Given the description of an element on the screen output the (x, y) to click on. 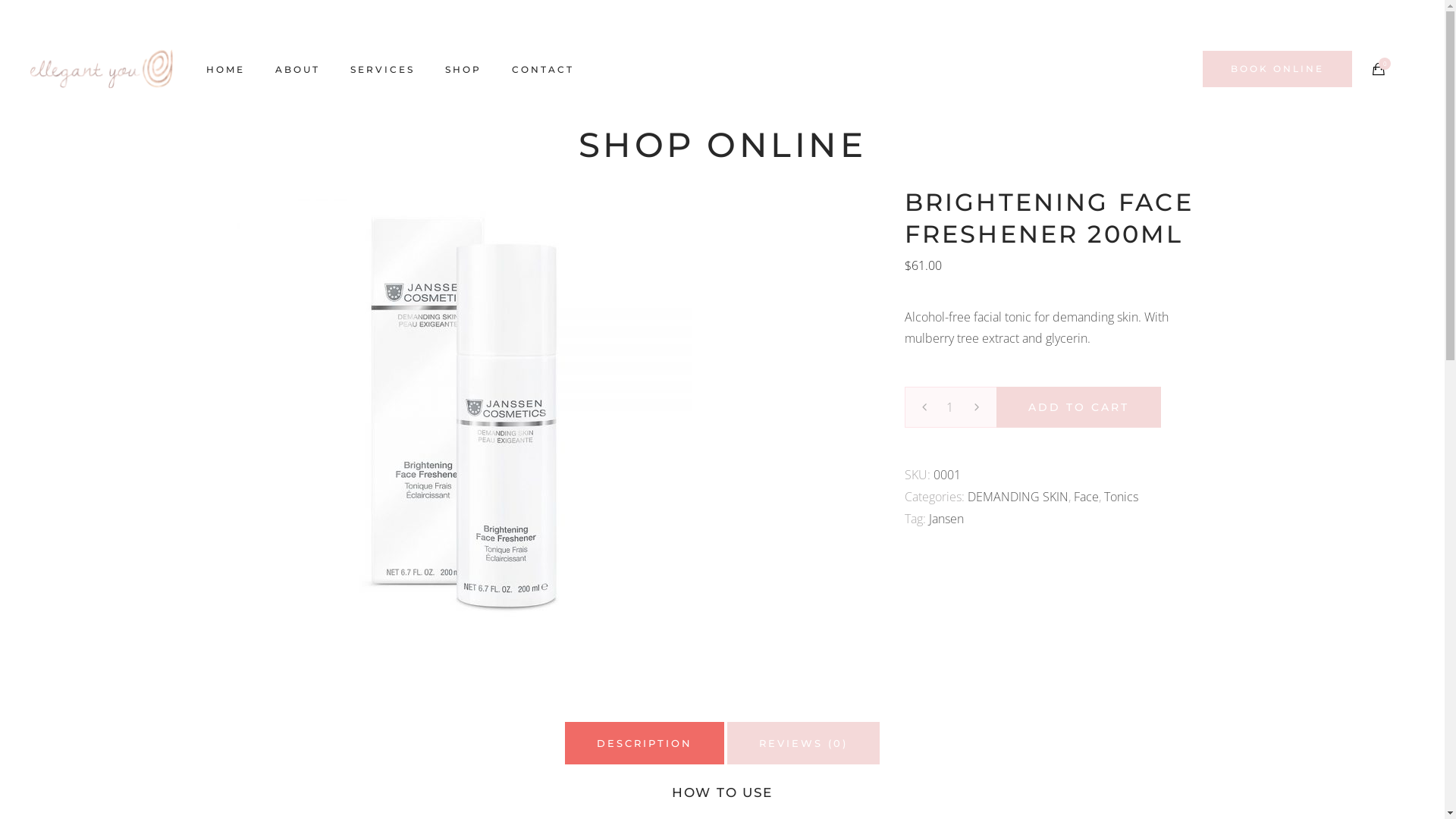
REVIEWS (0) Element type: text (803, 742)
ABOUT Element type: text (297, 69)
ADD TO CART Element type: text (1078, 406)
DEMANDING SKIN Element type: text (1017, 496)
Jansen Element type: text (945, 518)
SHOP Element type: text (462, 69)
Tonics Element type: text (1121, 496)
CONTACT Element type: text (542, 69)
Face Element type: text (1085, 496)
Qty Element type: hover (949, 406)
Brightening Face Freshener 200ml Element type: hover (463, 413)
0 Element type: text (1378, 68)
SERVICES Element type: text (382, 69)
DESCRIPTION Element type: text (644, 742)
HOME Element type: text (225, 69)
BOOK ONLINE Element type: text (1277, 68)
